Given the description of an element on the screen output the (x, y) to click on. 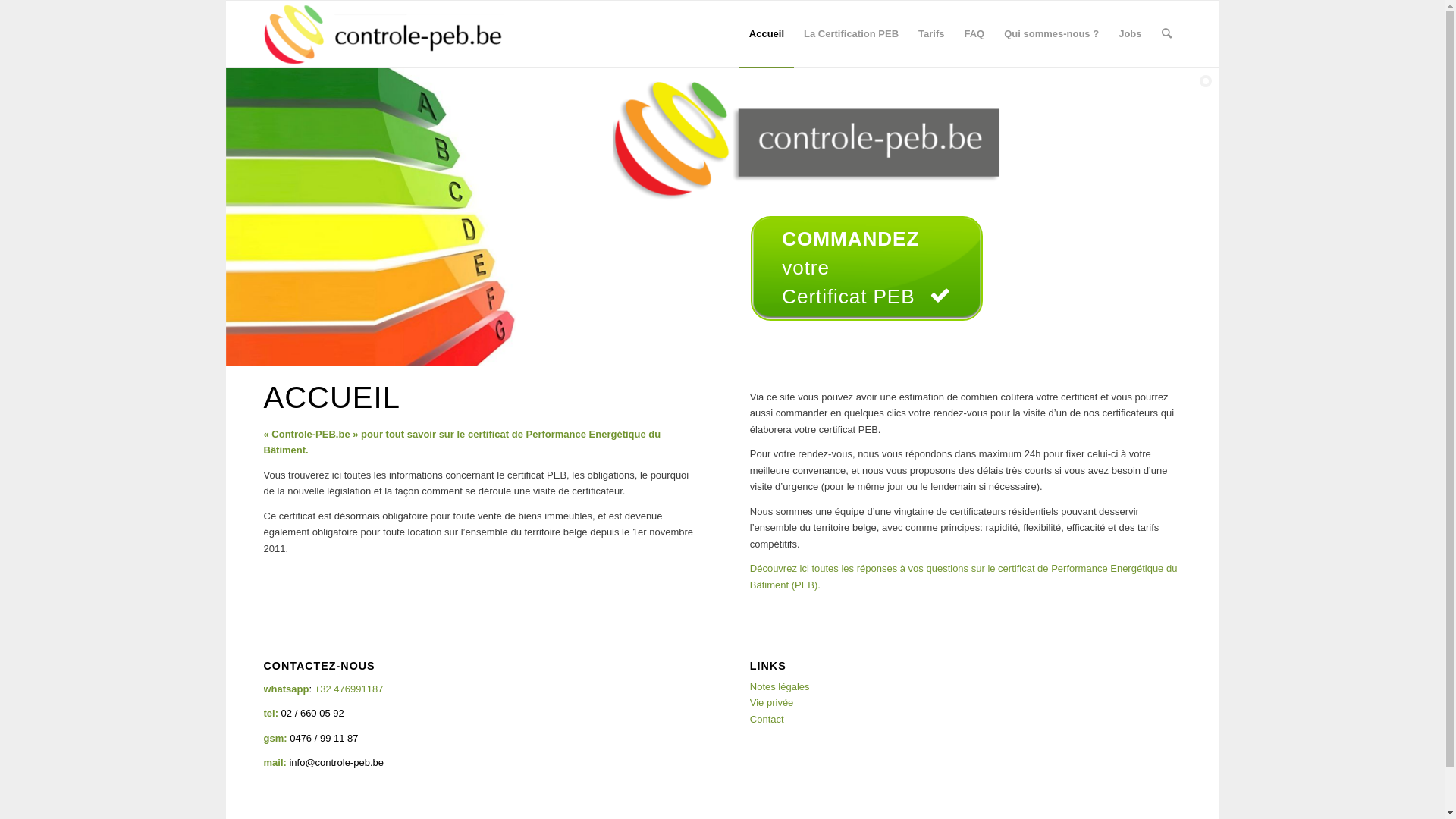
Tarifs Element type: text (930, 33)
Jobs Element type: text (1129, 33)
Qui sommes-nous ? Element type: text (1051, 33)
Contact Element type: text (766, 718)
+32 476991187 Element type: text (348, 688)
FAQ Element type: text (973, 33)
La Certification PEB Element type: text (850, 33)
Accueil Element type: text (766, 33)
controle-white-leters Element type: hover (395, 33)
